Given the description of an element on the screen output the (x, y) to click on. 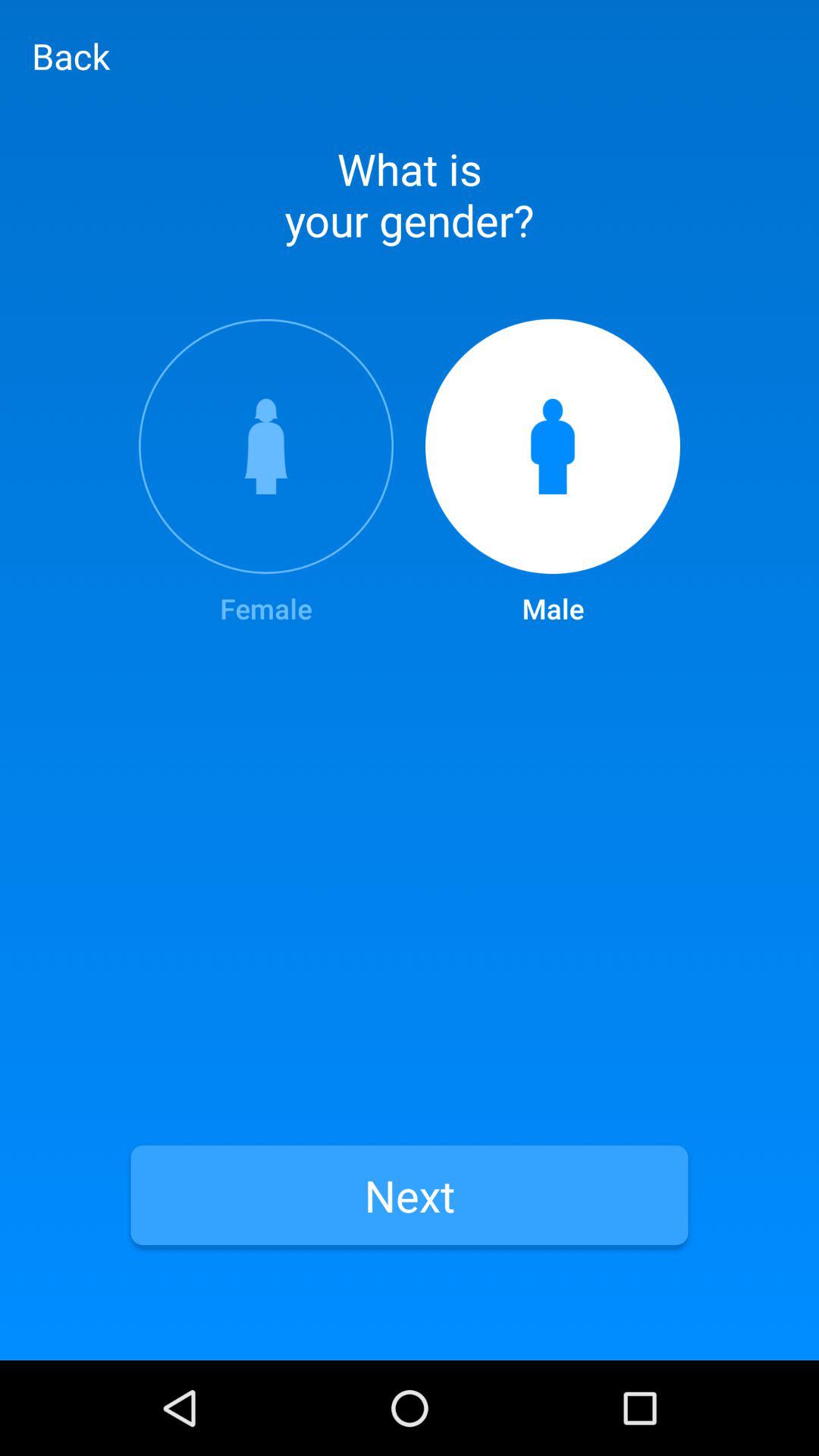
tap item next to male (265, 473)
